Given the description of an element on the screen output the (x, y) to click on. 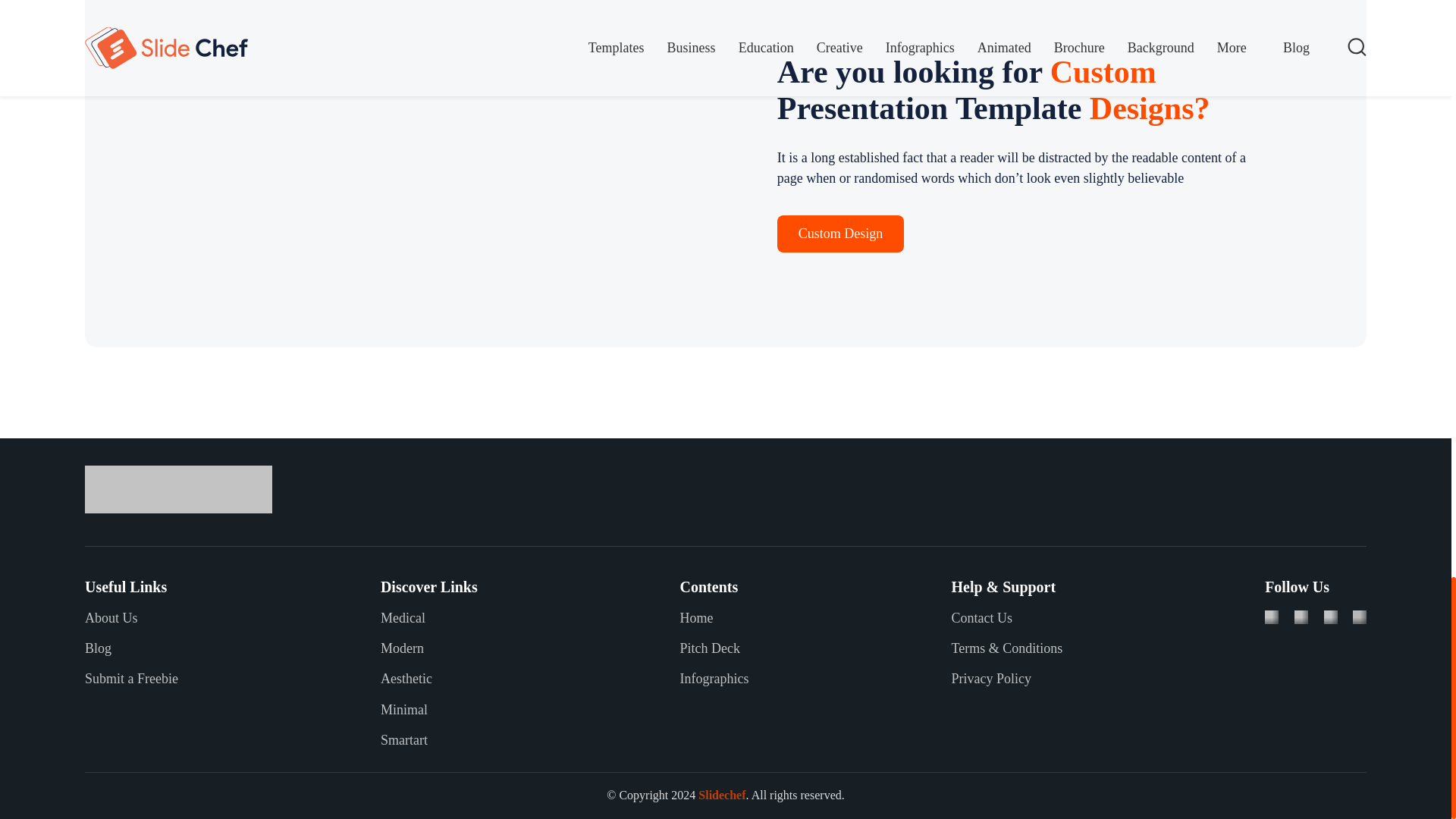
SlideChef (178, 489)
Instagram (1329, 616)
Pinterest (1360, 616)
Facebook (1271, 616)
